Given the description of an element on the screen output the (x, y) to click on. 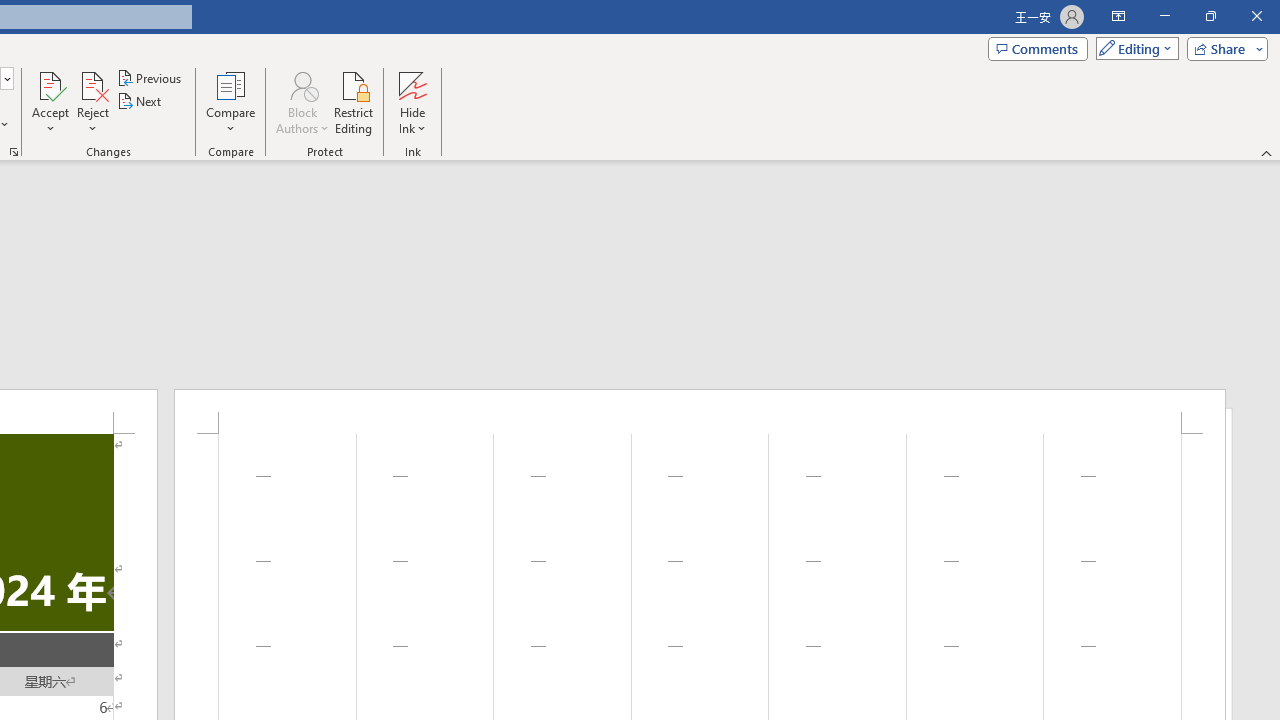
Reject (92, 102)
Change Tracking Options... (13, 151)
Reject and Move to Next (92, 84)
Hide Ink (412, 102)
Restrict Editing (353, 102)
Accept and Move to Next (50, 84)
Block Authors (302, 102)
